Given the description of an element on the screen output the (x, y) to click on. 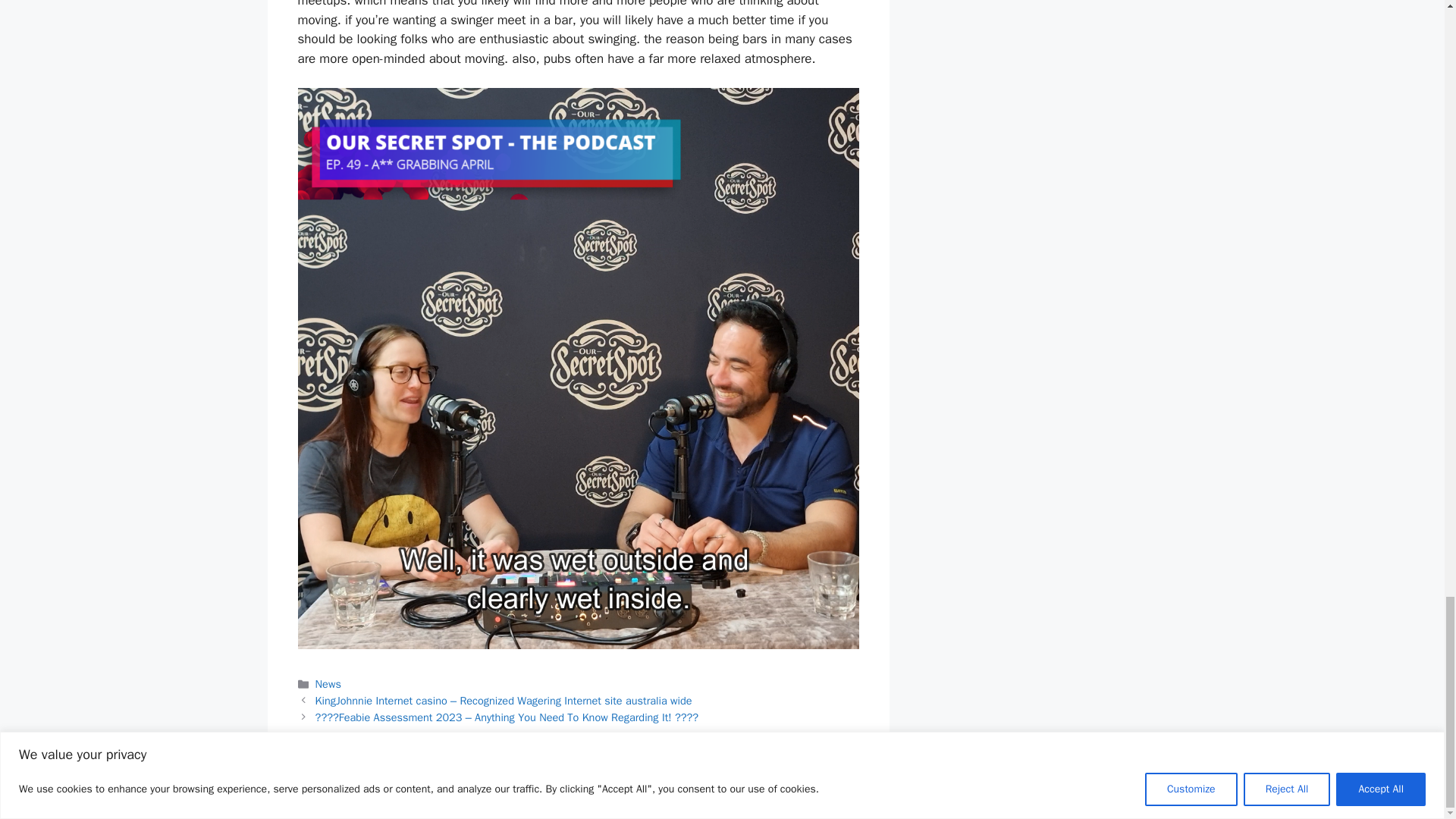
Previous (504, 700)
Next (506, 716)
